Given the description of an element on the screen output the (x, y) to click on. 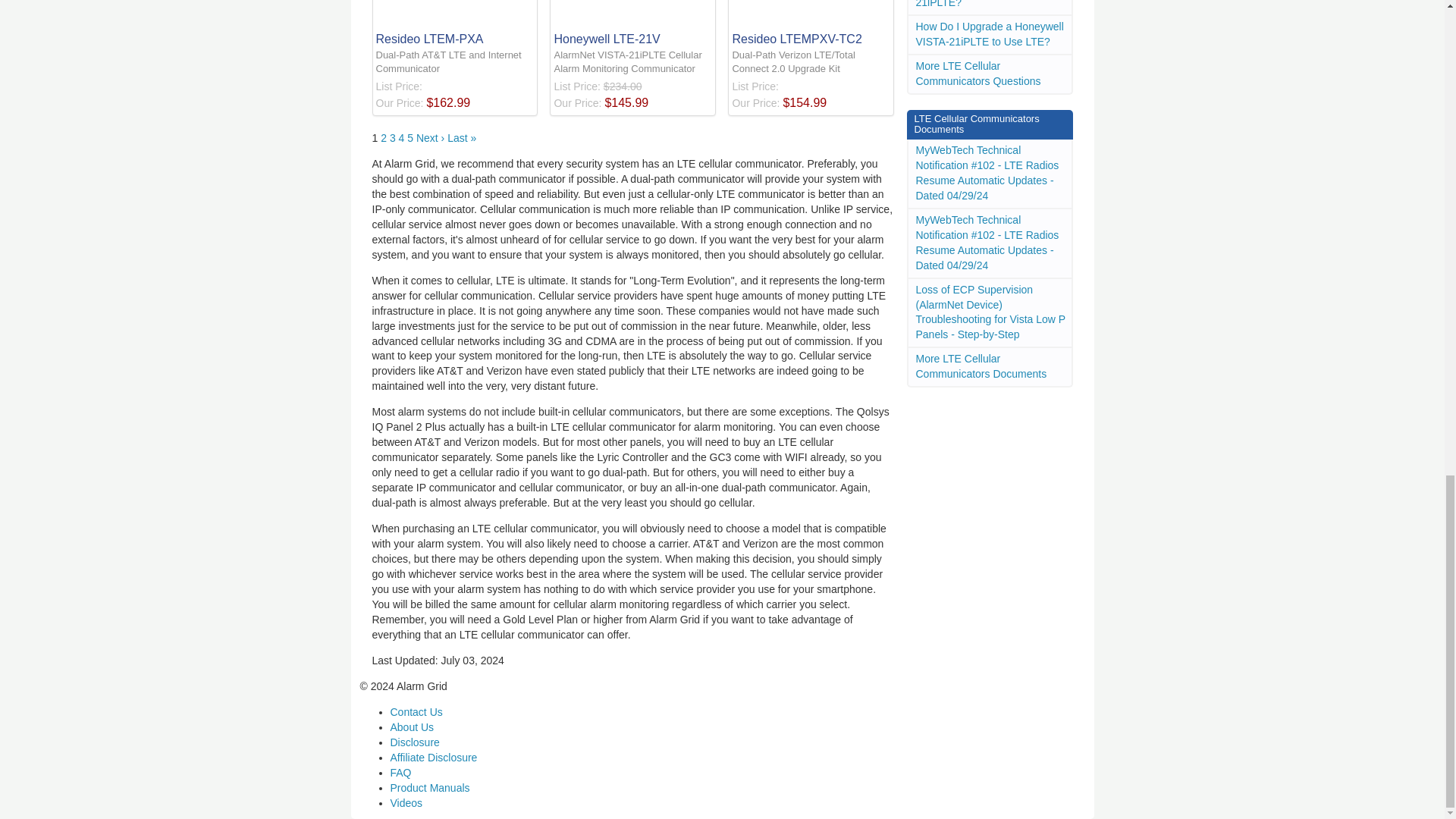
Resideo LTEMPXV-TC2 (810, 24)
2 (383, 137)
Resideo LTEM-PXA (454, 24)
Honeywell LTE-21V (632, 24)
